Given the description of an element on the screen output the (x, y) to click on. 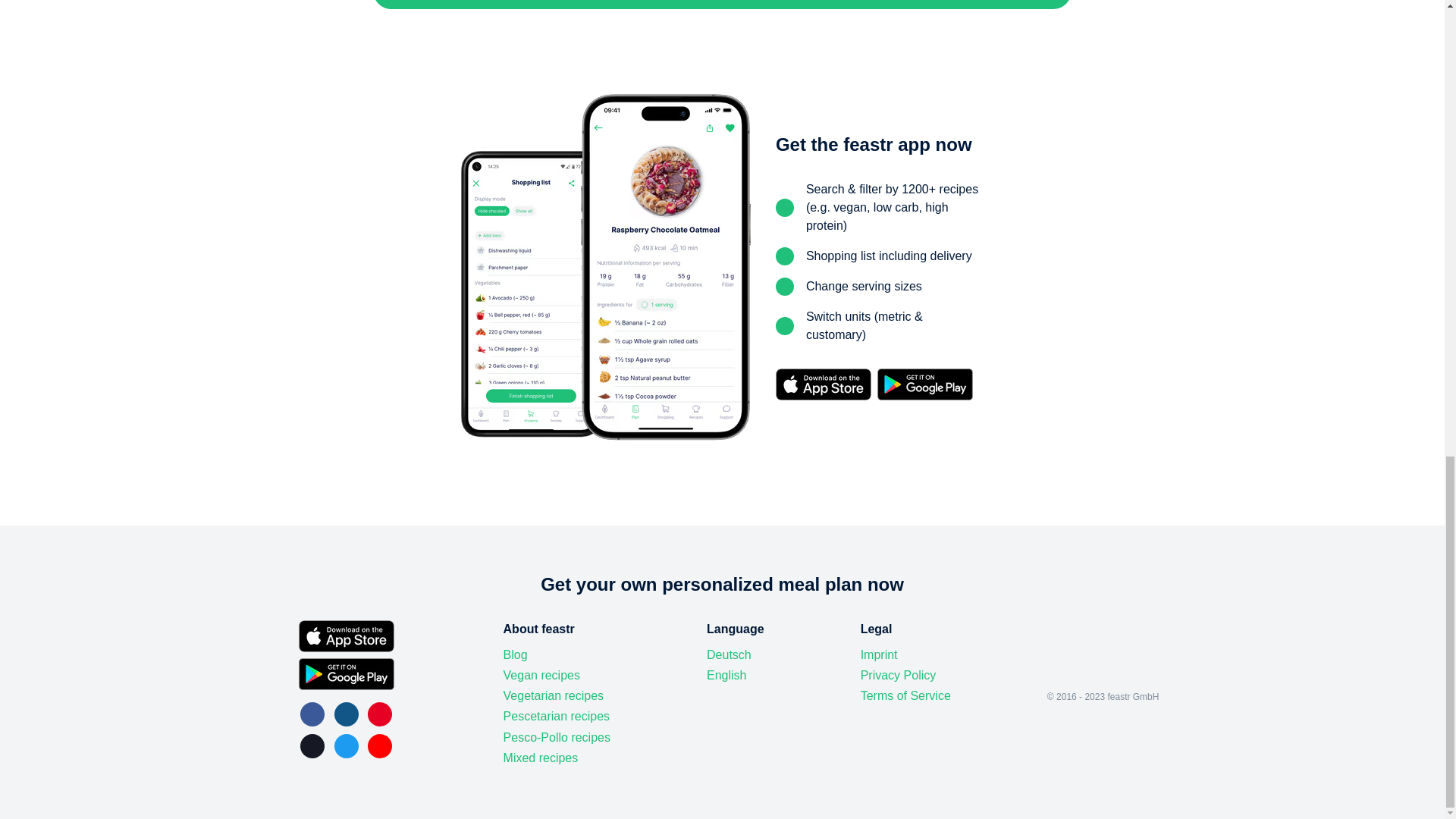
Vegetarian recipes (553, 696)
Vegan recipes (541, 675)
Mixed recipes (540, 758)
Pescetarian recipes (556, 716)
English (725, 675)
Deutsch (728, 655)
Privacy Policy (898, 675)
Open in the feastr app (721, 4)
Imprint (879, 655)
Pesco-Pollo recipes (556, 737)
Terms of Service (905, 696)
Blog (515, 655)
